Given the description of an element on the screen output the (x, y) to click on. 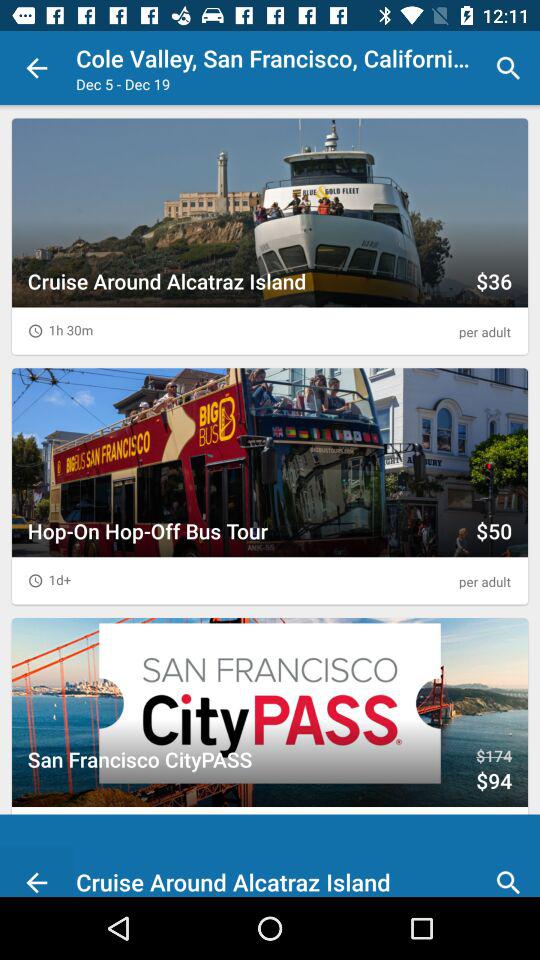
click on the second thumbnail (269, 485)
select the third image (269, 736)
select the third thumbnail (269, 712)
